Given the description of an element on the screen output the (x, y) to click on. 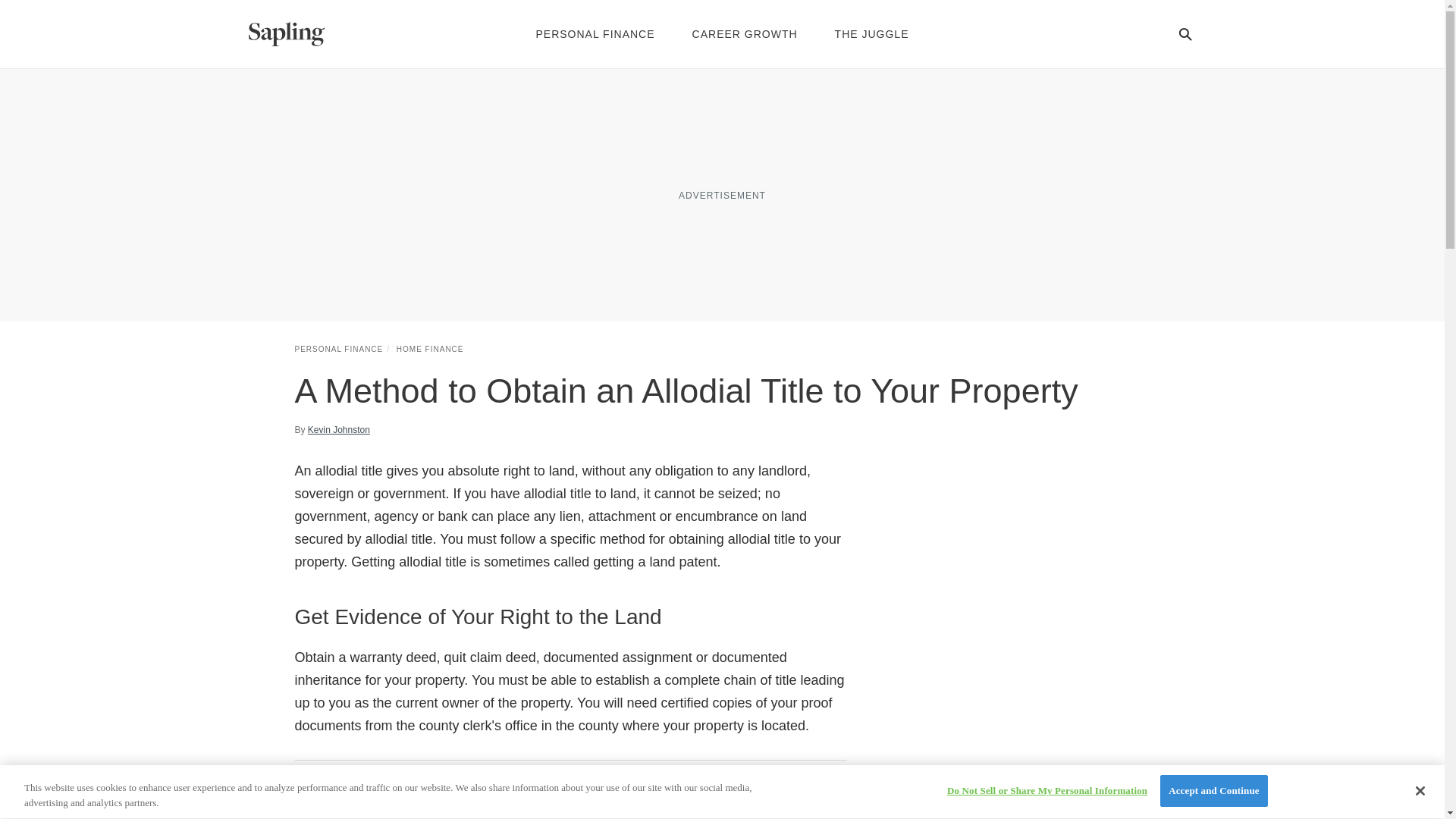
Kevin Johnston (338, 429)
Accept and Continue (1213, 790)
PERSONAL FINANCE (338, 348)
HOME FINANCE (430, 348)
Do Not Sell or Share My Personal Information (1047, 790)
